Given the description of an element on the screen output the (x, y) to click on. 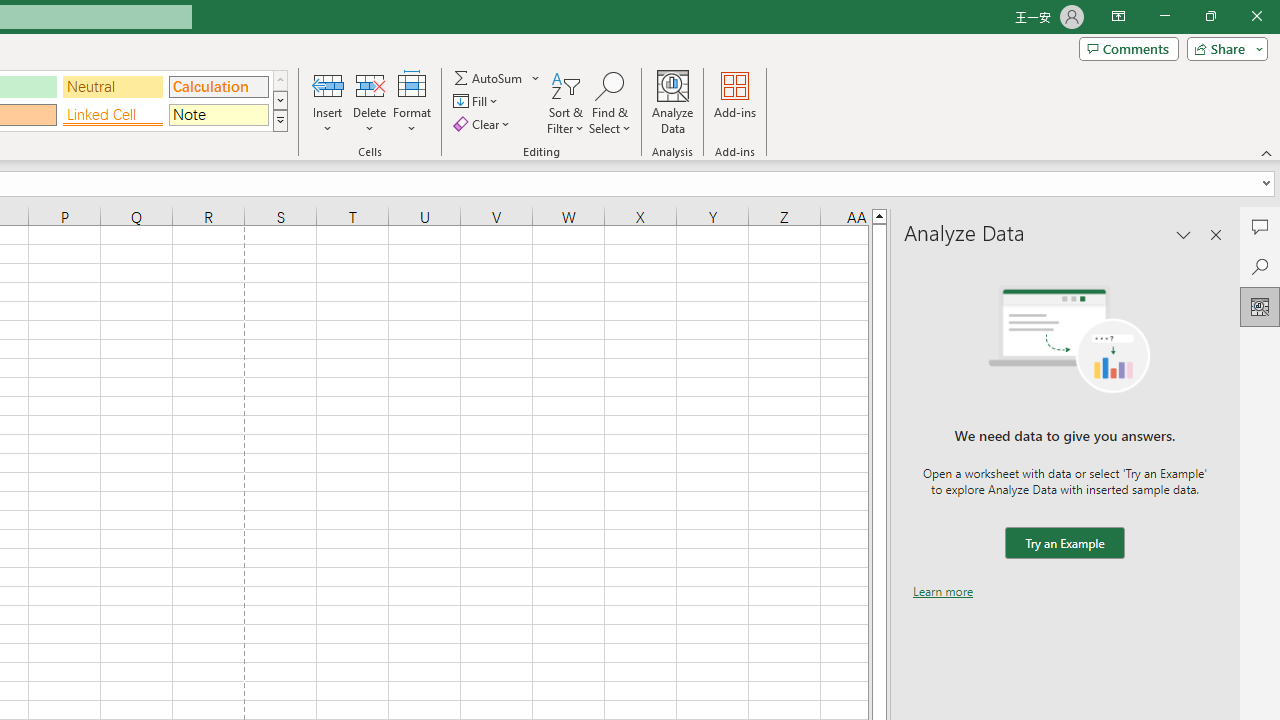
Search (1260, 266)
Note (218, 114)
Row Down (280, 100)
Delete (369, 102)
Sort & Filter (566, 102)
We need data to give you answers. Try an Example (1064, 543)
Cell Styles (280, 120)
Neutral (113, 86)
